Given the description of an element on the screen output the (x, y) to click on. 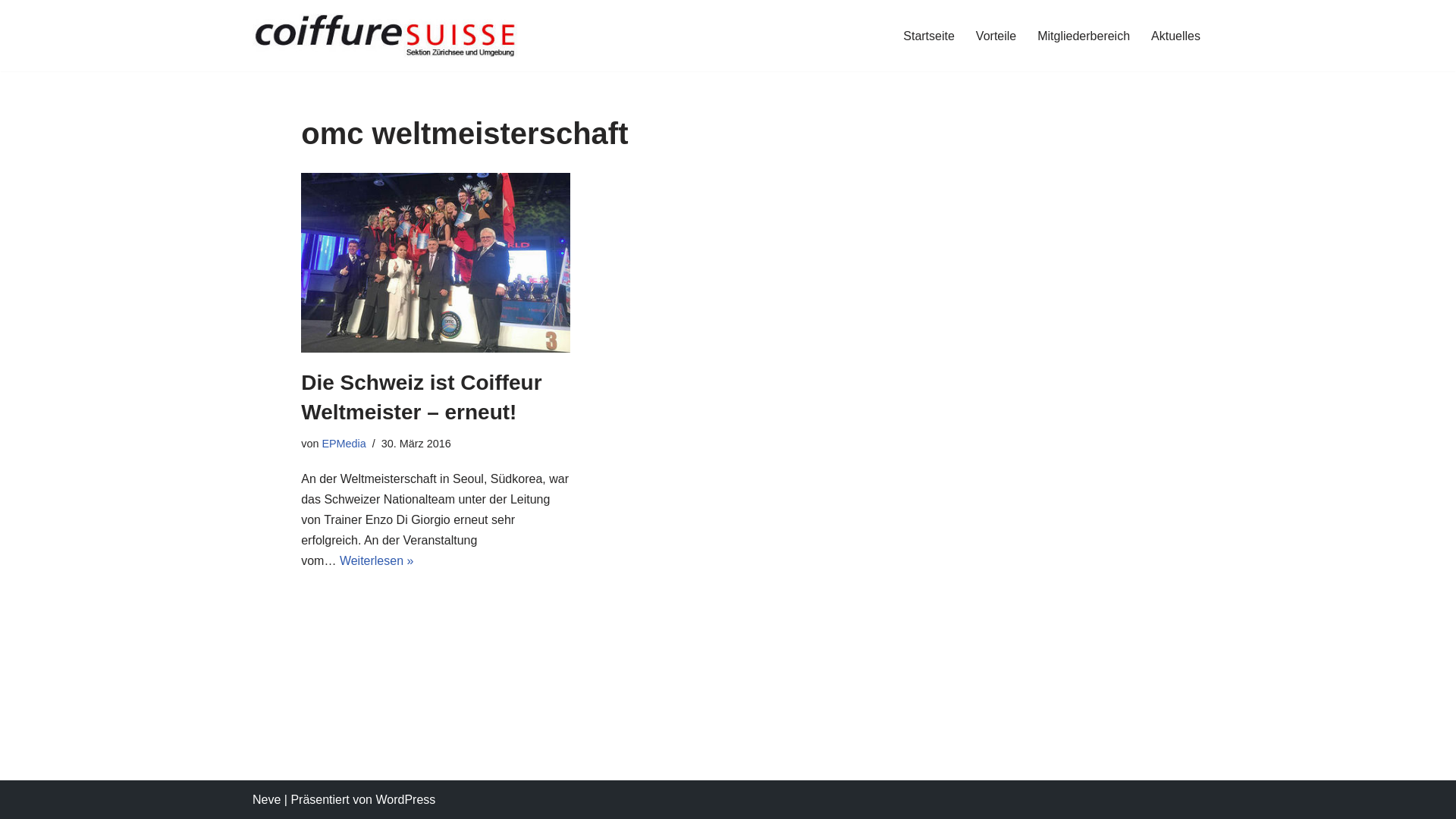
Neve Element type: text (266, 799)
EPMedia Element type: text (343, 443)
Aktuelles Element type: text (1175, 35)
Mitgliederbereich Element type: text (1083, 35)
Zum Inhalt springen Element type: text (11, 31)
Vorteile Element type: text (995, 35)
WordPress Element type: text (405, 799)
Startseite Element type: text (928, 35)
